Given the description of an element on the screen output the (x, y) to click on. 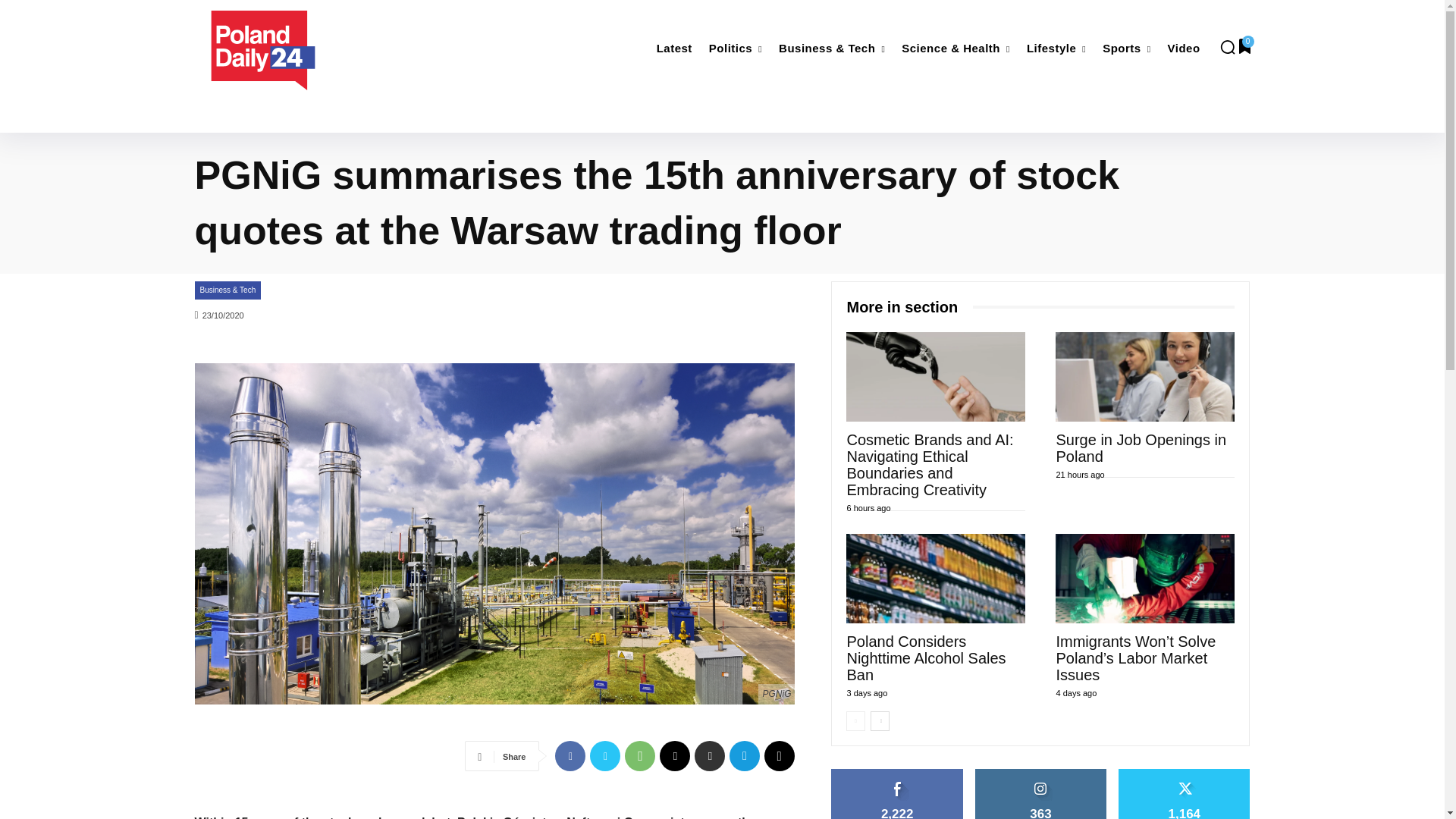
Politics (735, 48)
Latest (674, 48)
